Given the description of an element on the screen output the (x, y) to click on. 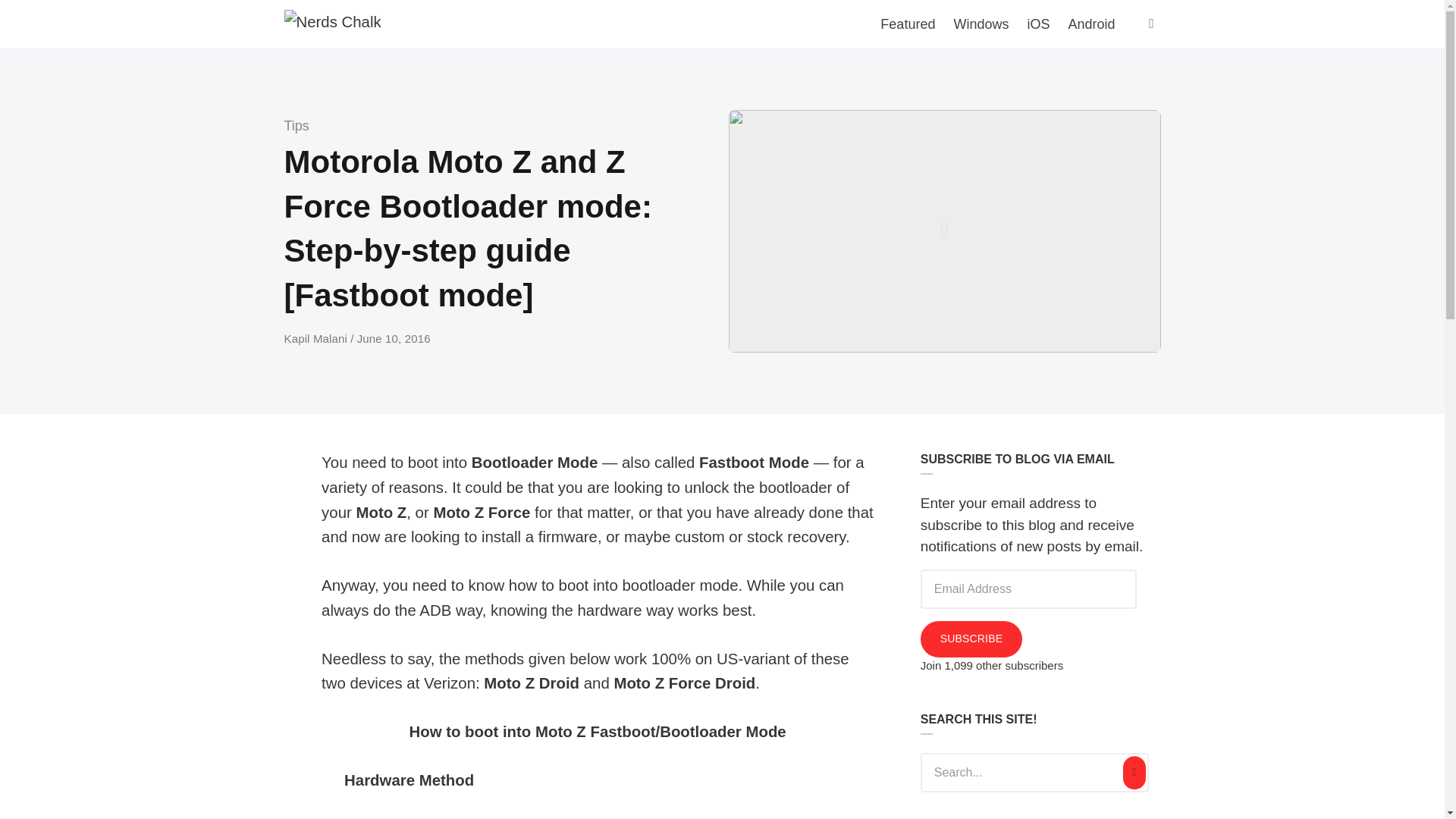
Windows (980, 24)
Kapil Malani (316, 338)
Featured (906, 24)
Tips (295, 125)
Android (1091, 24)
SUBSCRIBE (971, 638)
